Given the description of an element on the screen output the (x, y) to click on. 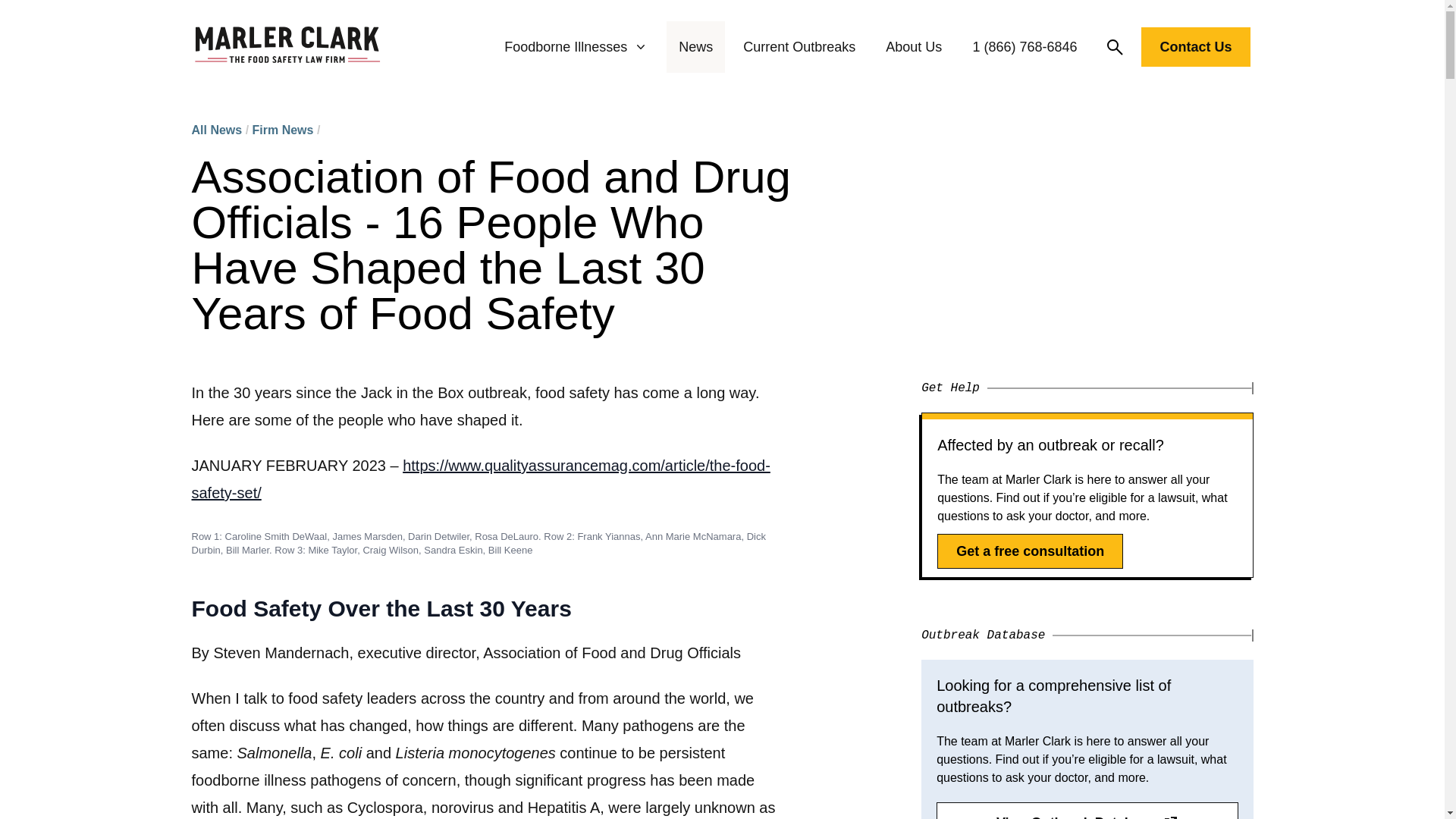
Current Outbreaks (799, 46)
News (695, 46)
Contact Us (1195, 46)
Firm News (282, 129)
All News (215, 129)
Contact Us (1195, 49)
Foodborne Illnesses (576, 46)
Marler Clark (286, 46)
About Us (913, 46)
